Given the description of an element on the screen output the (x, y) to click on. 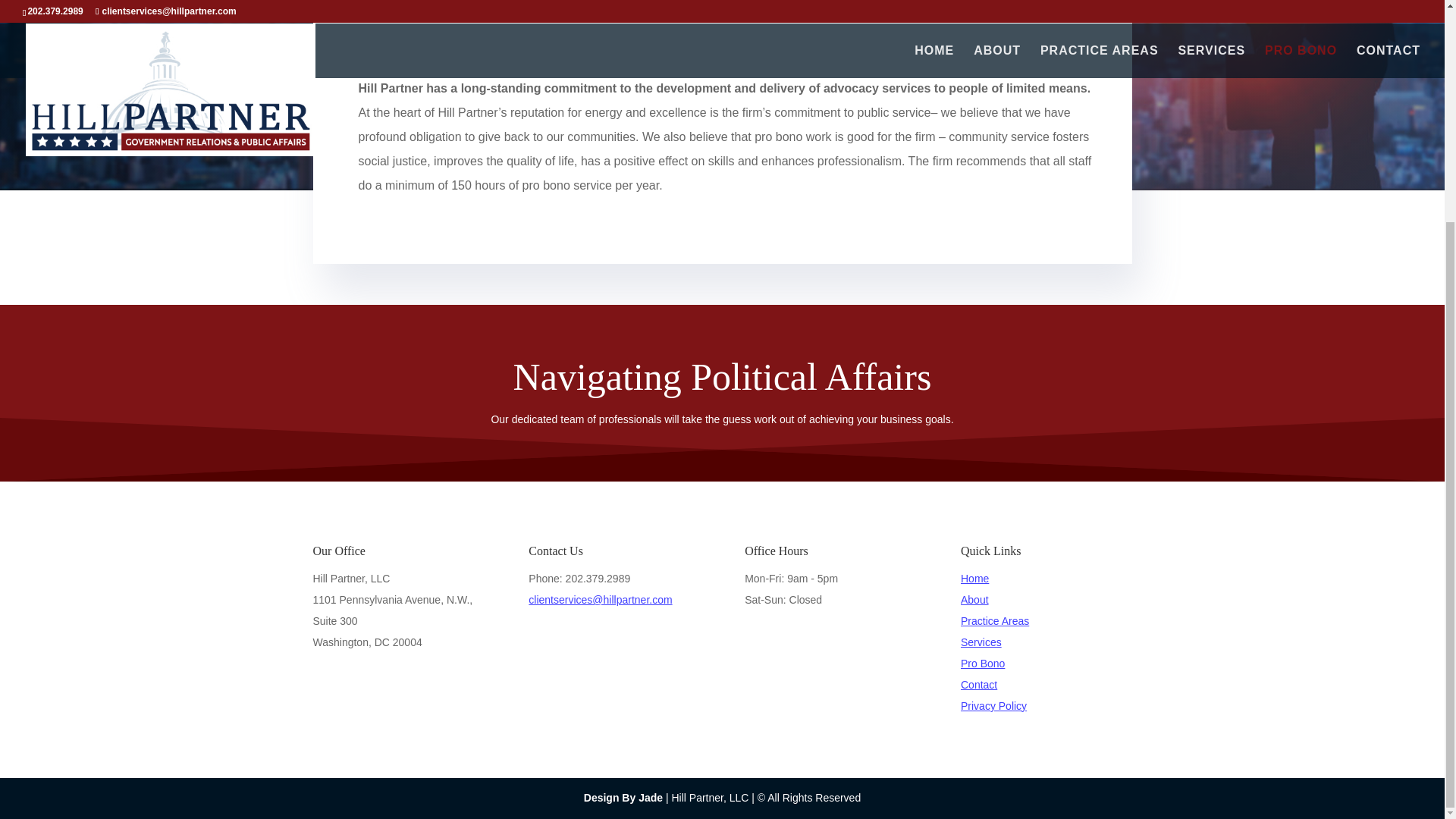
Privacy Policy (993, 705)
Design By Jade (622, 797)
About (974, 599)
Home (974, 578)
Contact (978, 684)
Services (980, 642)
Pro Bono (982, 663)
Practice Areas (994, 621)
